Given the description of an element on the screen output the (x, y) to click on. 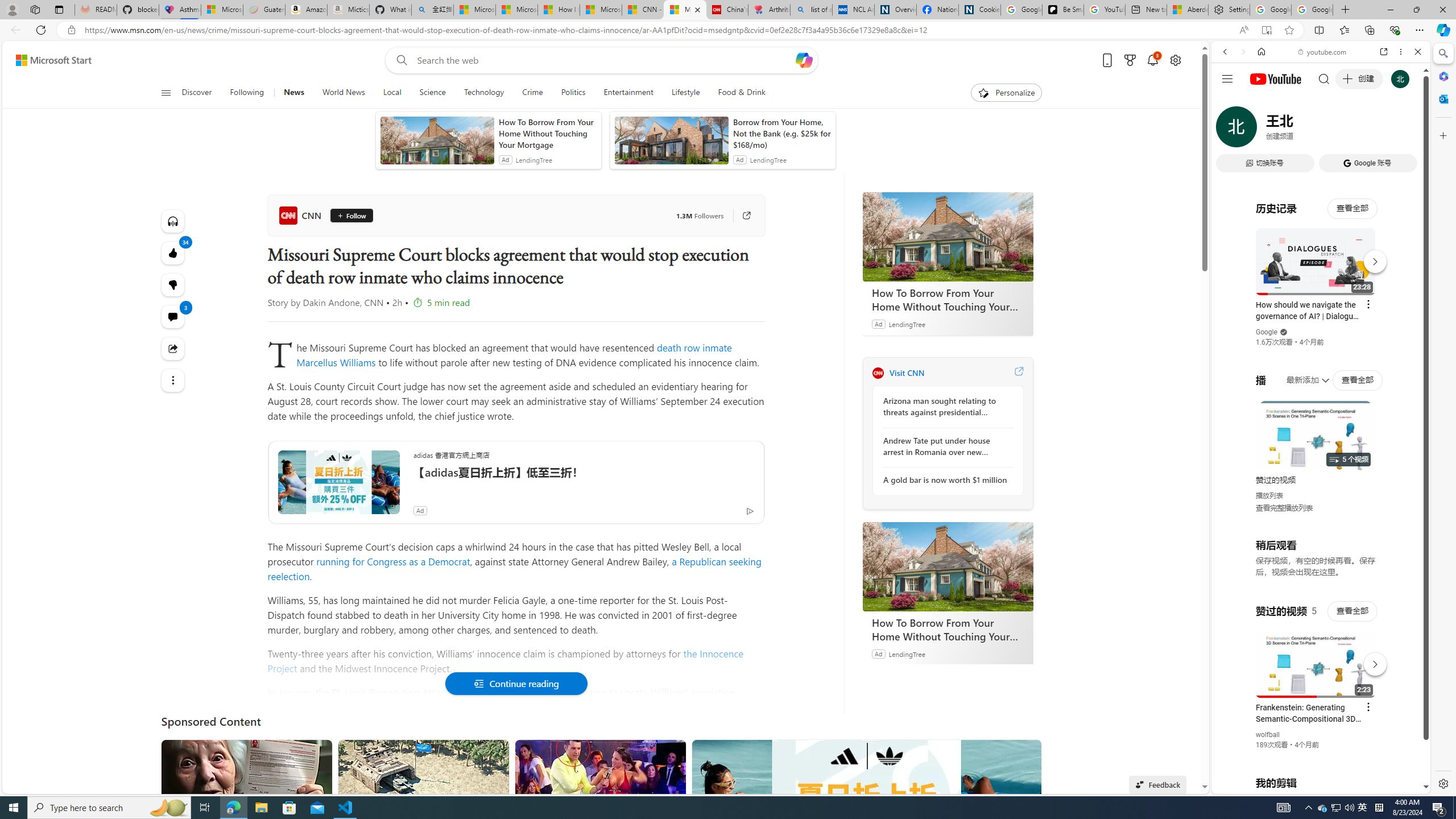
Lifestyle (685, 92)
Google (1320, 281)
wolfball (1268, 734)
Read aloud this page (Ctrl+Shift+U) (1243, 29)
Skip to footer (46, 59)
CNN (877, 372)
CNN - MSN (642, 9)
Class: b_serphb (1404, 130)
Follow (351, 215)
#you (1320, 253)
How To Borrow From Your Home Without Touching Your Mortgage (947, 628)
Lifestyle (685, 92)
Open Copilot (803, 59)
